Given the description of an element on the screen output the (x, y) to click on. 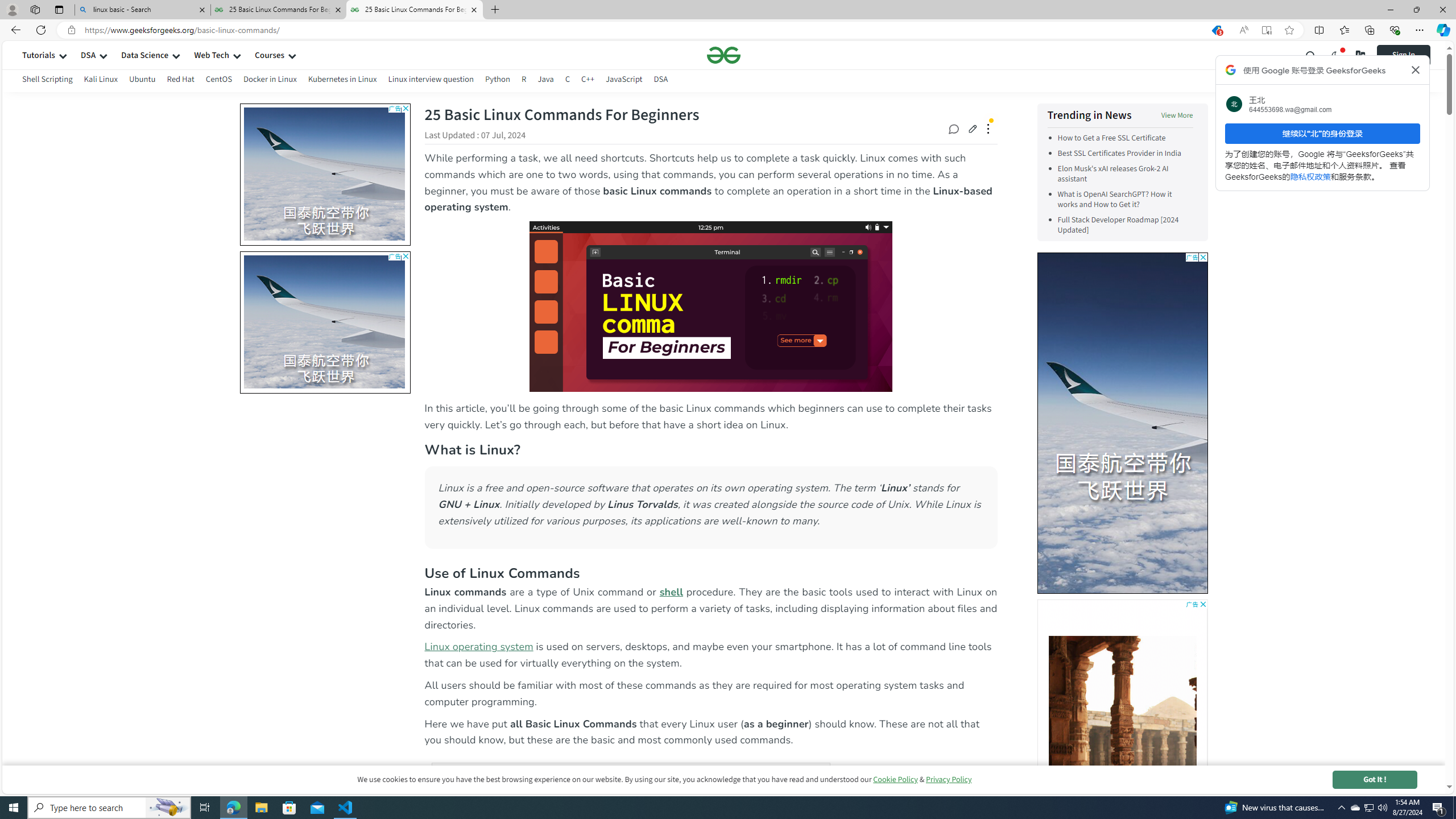
AutomationID: cbb (1202, 604)
AutomationID: bg5 (1121, 696)
DSA (660, 79)
Python (497, 80)
AutomationID: wheel (1037, 256)
search (1311, 54)
Ubuntu (142, 79)
DSA (660, 80)
R (523, 79)
Java (545, 79)
